Given the description of an element on the screen output the (x, y) to click on. 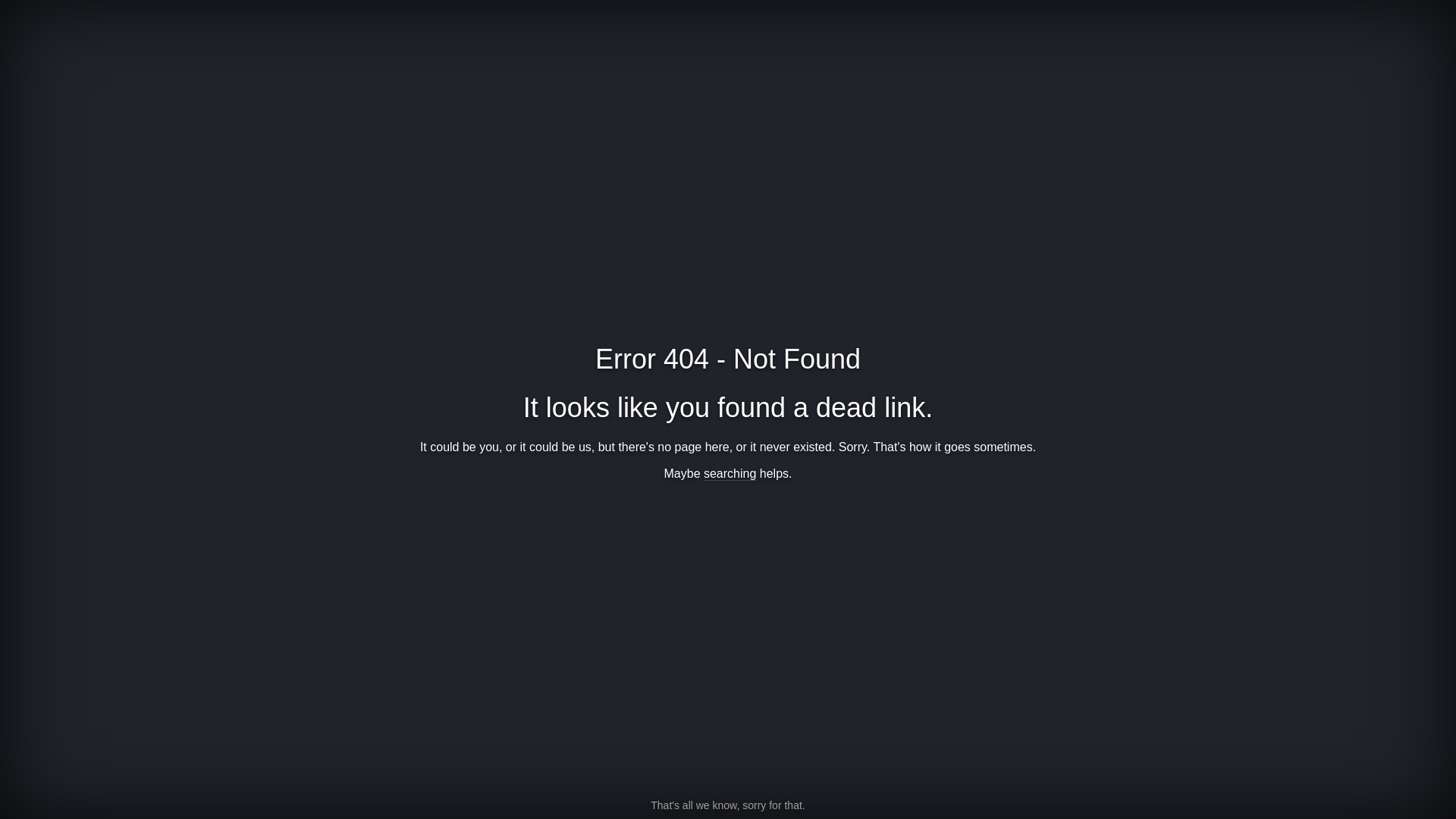
searching Element type: text (729, 473)
